Given the description of an element on the screen output the (x, y) to click on. 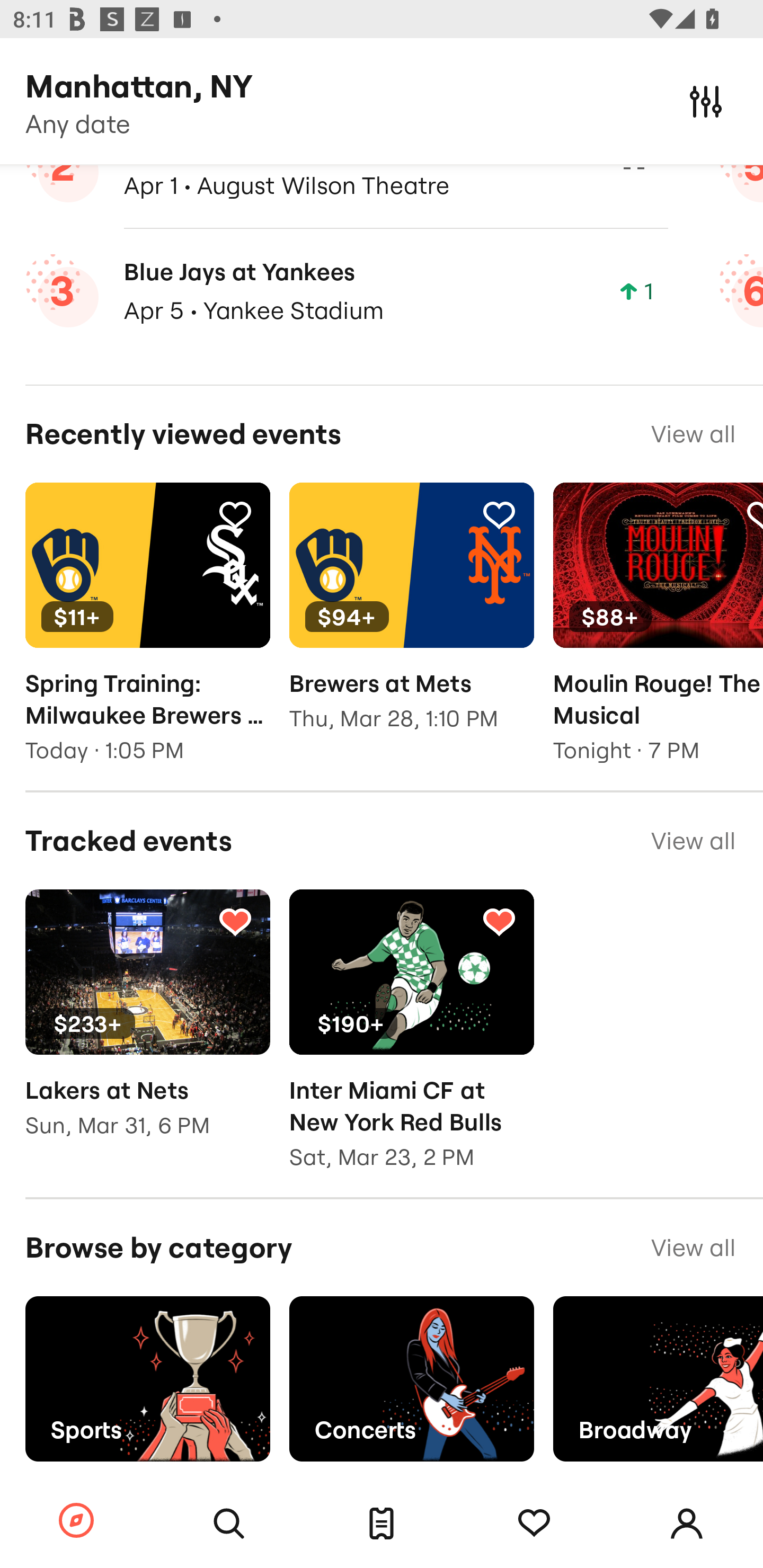
Filters (705, 100)
View all (693, 433)
Tracking $94+ Brewers at Mets Thu, Mar 28, 1:10 PM (411, 619)
Tracking (234, 514)
Tracking (498, 514)
Tracking (753, 514)
View all (693, 840)
Tracking $233+ Lakers at Nets Sun, Mar 31, 6 PM (147, 1027)
Tracking (234, 920)
Tracking (498, 920)
View all (693, 1247)
Sports (147, 1378)
Concerts (411, 1378)
Broadway (658, 1378)
Browse (76, 1521)
Search (228, 1523)
Tickets (381, 1523)
Tracking (533, 1523)
Account (686, 1523)
